Given the description of an element on the screen output the (x, y) to click on. 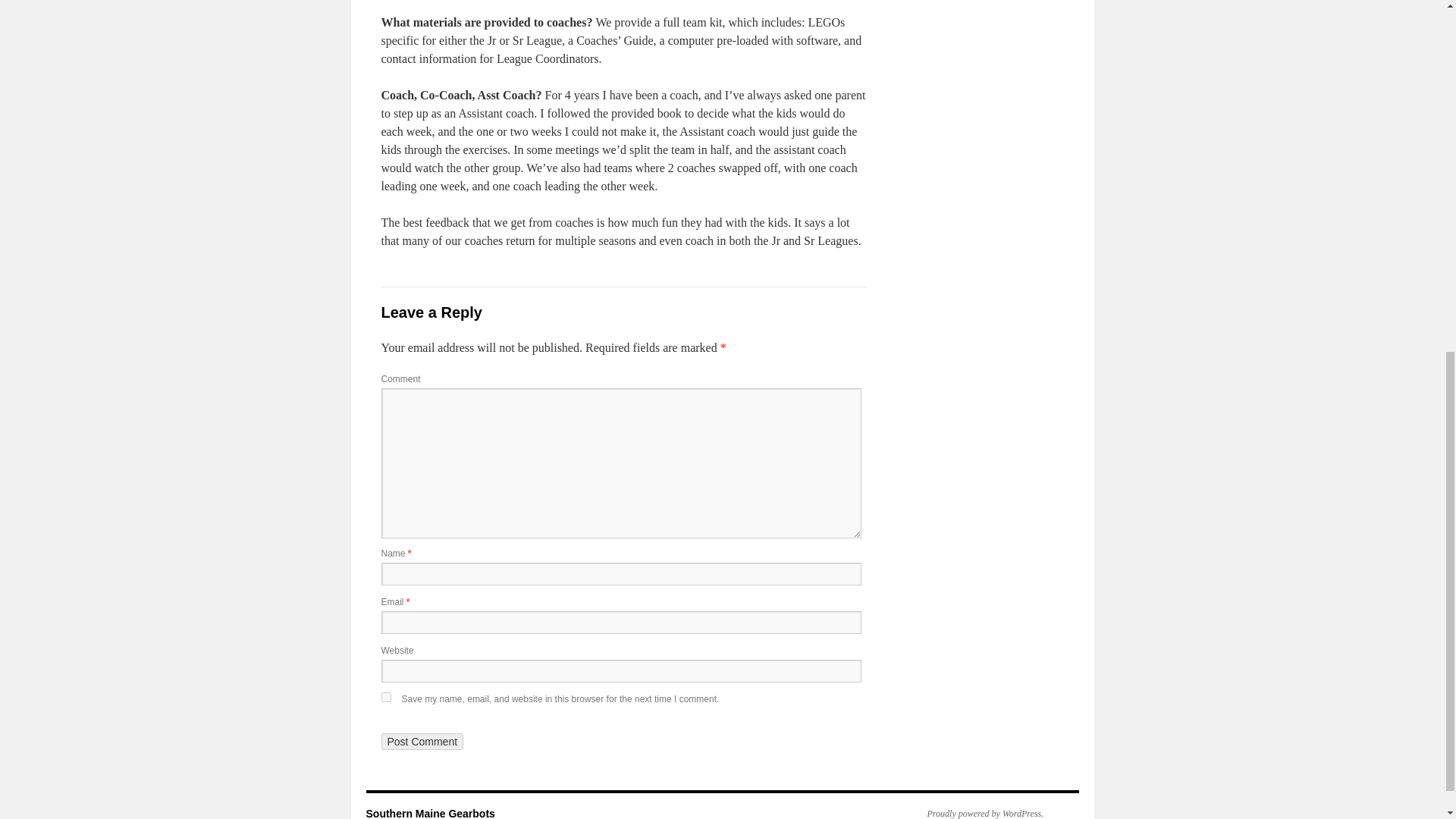
yes (385, 696)
Post Comment (421, 741)
Post Comment (421, 741)
